Given the description of an element on the screen output the (x, y) to click on. 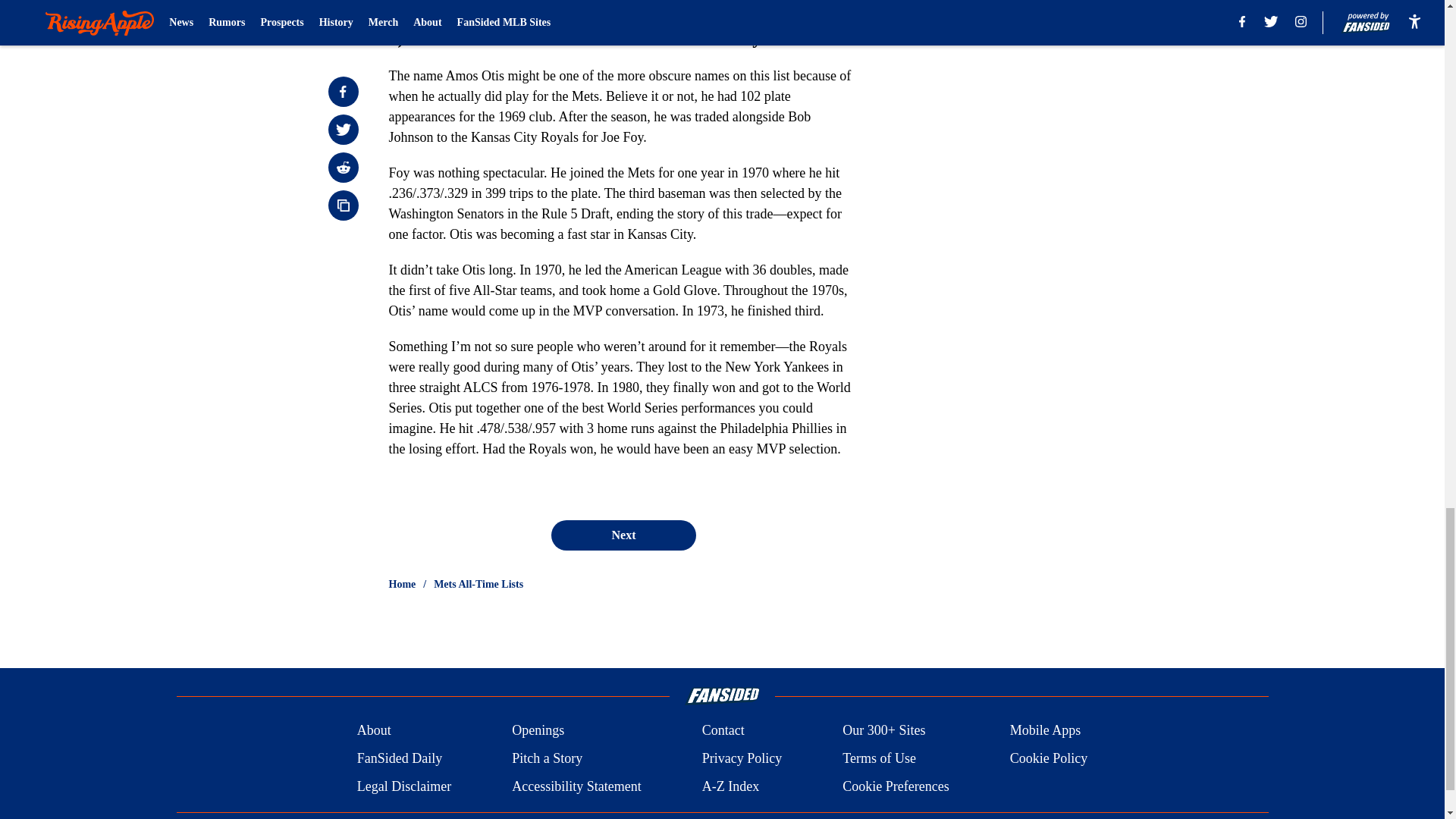
Terms of Use (879, 758)
FanSided Daily (399, 758)
Mobile Apps (1045, 730)
Pitch a Story (547, 758)
Legal Disclaimer (403, 786)
Contact (722, 730)
About (373, 730)
Cookie Policy (1048, 758)
A-Z Index (729, 786)
Openings (538, 730)
Privacy Policy (742, 758)
Next (622, 535)
Home (401, 584)
Accessibility Statement (576, 786)
Mets All-Time Lists (477, 584)
